Given the description of an element on the screen output the (x, y) to click on. 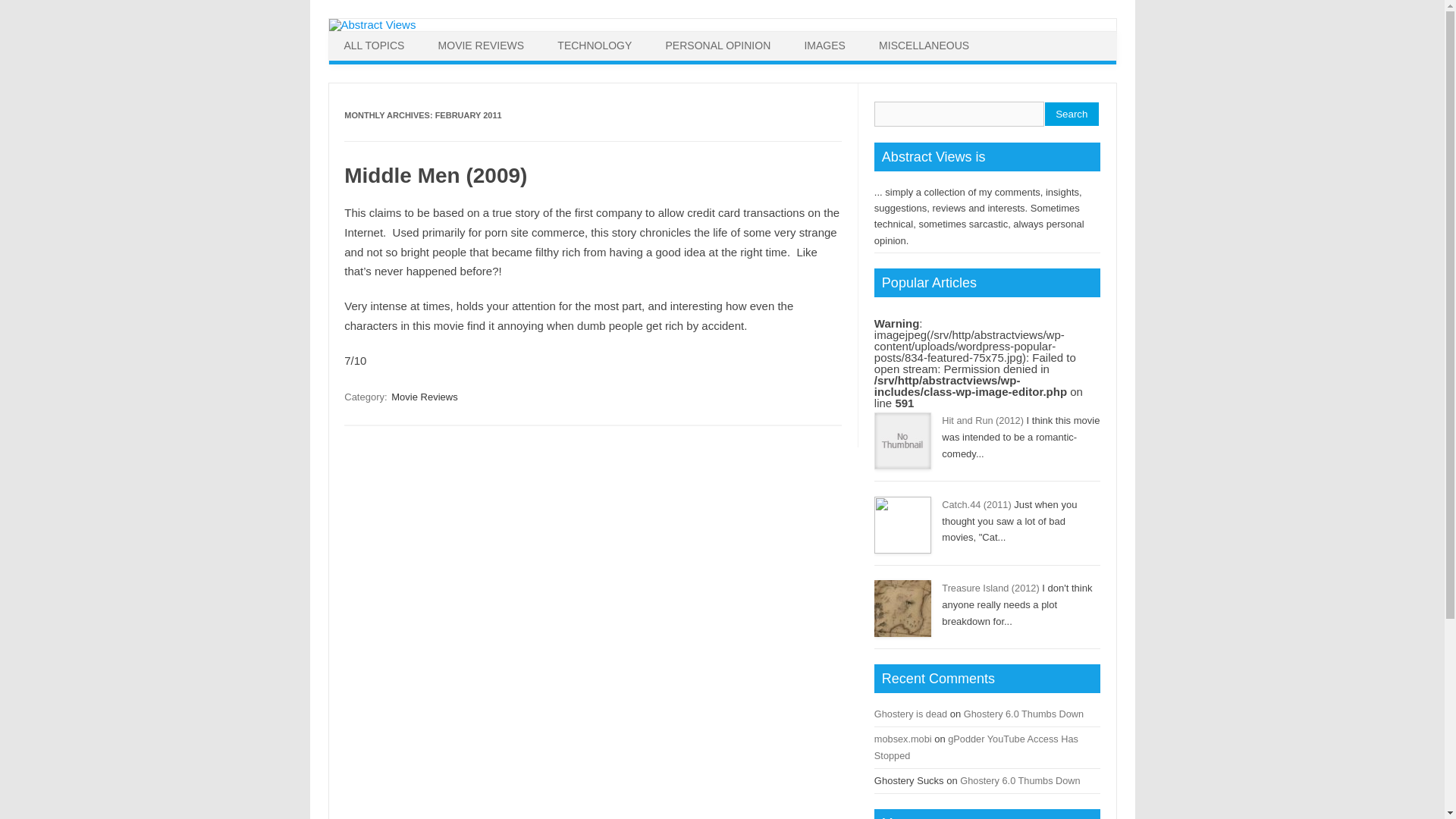
Ghostery 6.0 Thumbs Down (1019, 780)
TECHNOLOGY (593, 45)
Movie Reviews (424, 396)
Abstract Views (372, 24)
Ghostery is dead (911, 713)
PERSONAL OPINION (718, 45)
Search (1072, 114)
MISCELLANEOUS (923, 45)
mobsex.mobi (903, 738)
MOVIE REVIEWS (481, 45)
Search (1072, 114)
IMAGES (824, 45)
ALL TOPICS (374, 45)
Ghostery 6.0 Thumbs Down (1023, 713)
Skip to content (759, 36)
